Given the description of an element on the screen output the (x, y) to click on. 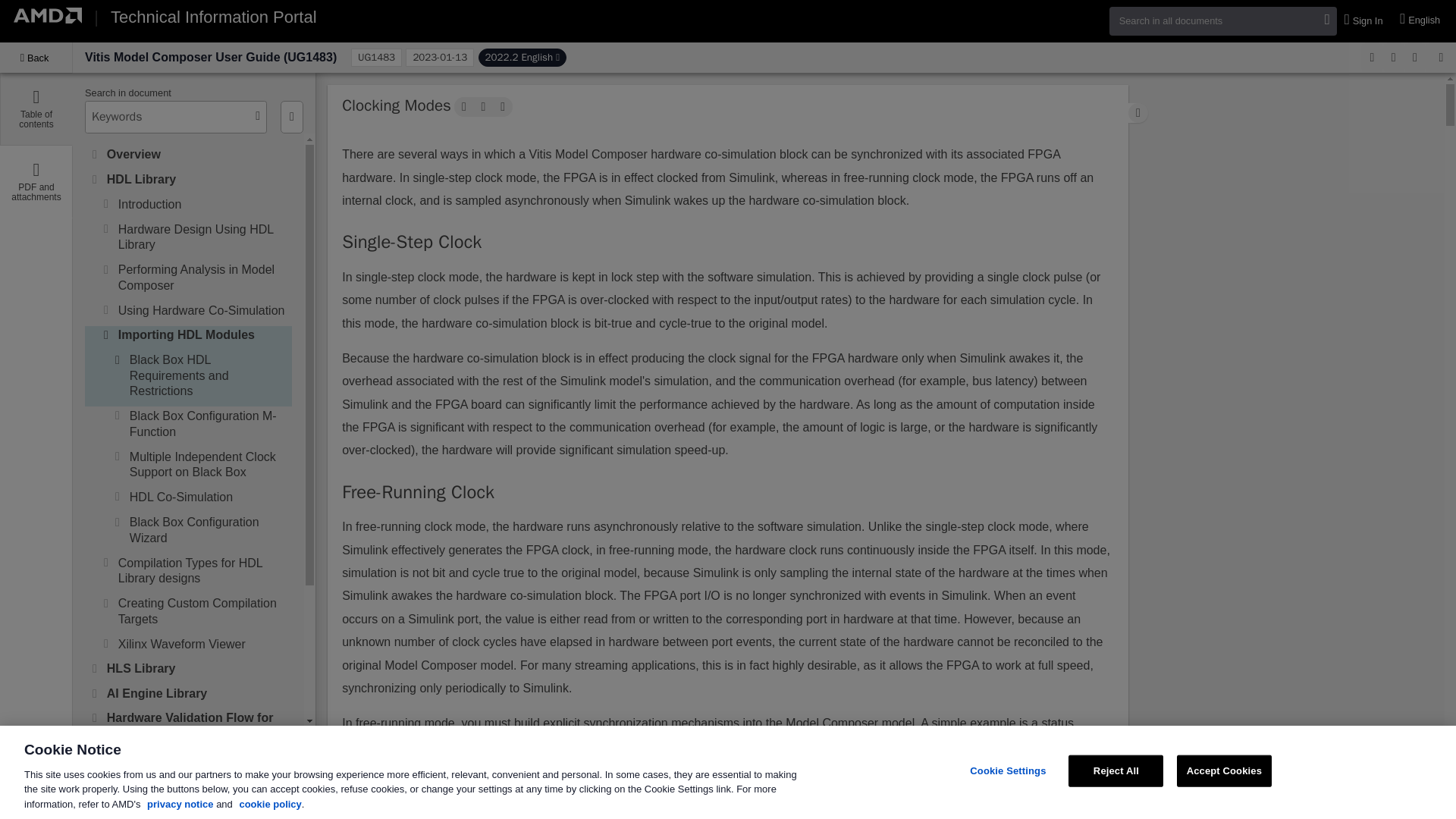
Release Date: 2023-01-13 (440, 57)
HDL Library (197, 179)
Using Hardware Co-Simulation (202, 309)
Performing Analysis in Model Composer (202, 277)
Sign In (1365, 21)
Technical Information Portal (212, 16)
English (1421, 20)
Document ID: UG1483 (375, 57)
2022.2 English (522, 57)
PDF and attachments (36, 181)
